Given the description of an element on the screen output the (x, y) to click on. 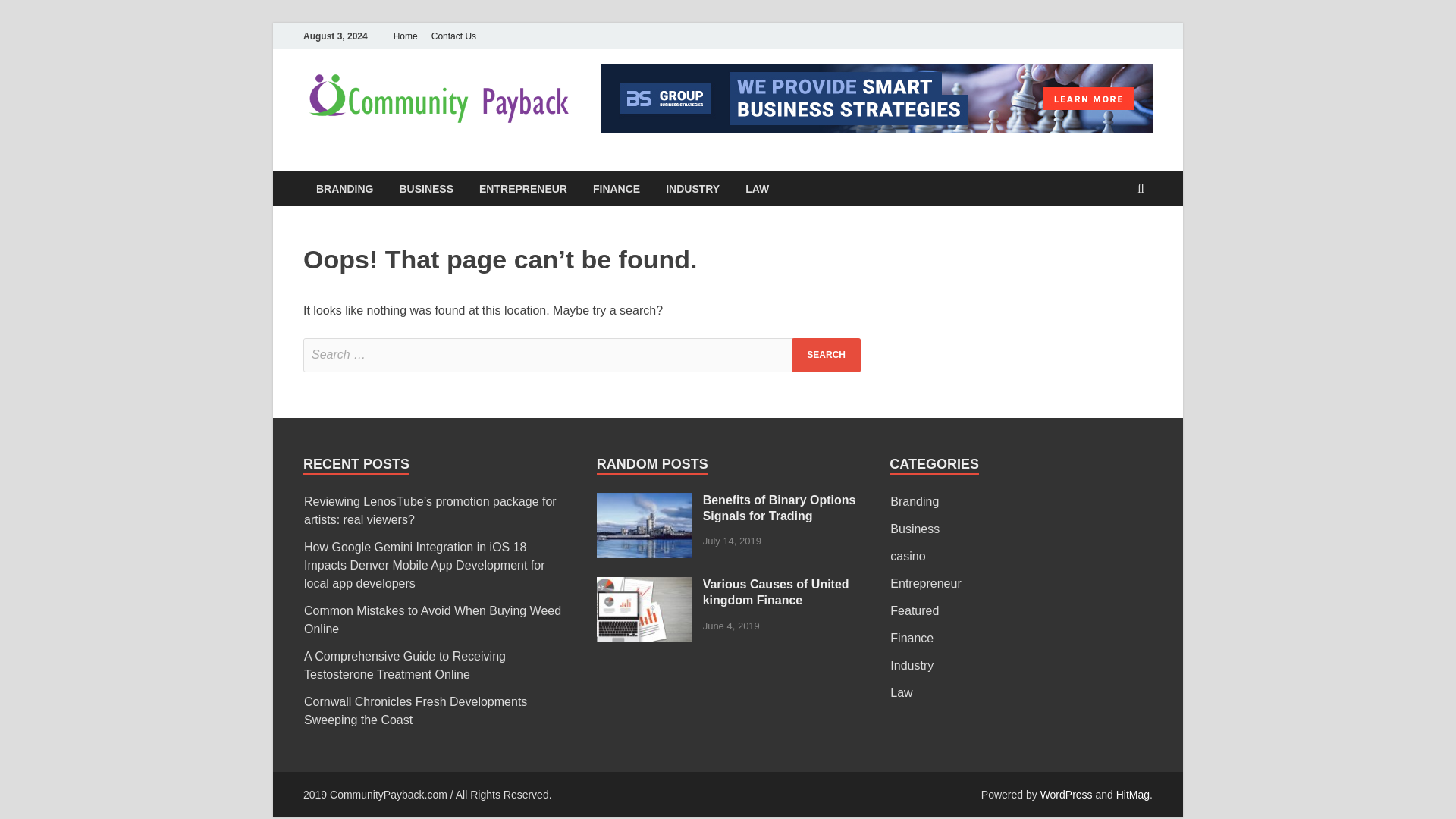
Search (826, 355)
Various Causes of United kingdom Finance (643, 585)
BRANDING (343, 188)
Industry (911, 665)
Finance (911, 637)
casino (906, 555)
ENTREPRENEUR (522, 188)
Entrepreneur (924, 583)
Branding (914, 501)
FINANCE (615, 188)
INDUSTRY (692, 188)
Law (900, 692)
Business (914, 528)
Search (826, 355)
Cornwall Chronicles Fresh Developments Sweeping the Coast (415, 710)
